Given the description of an element on the screen output the (x, y) to click on. 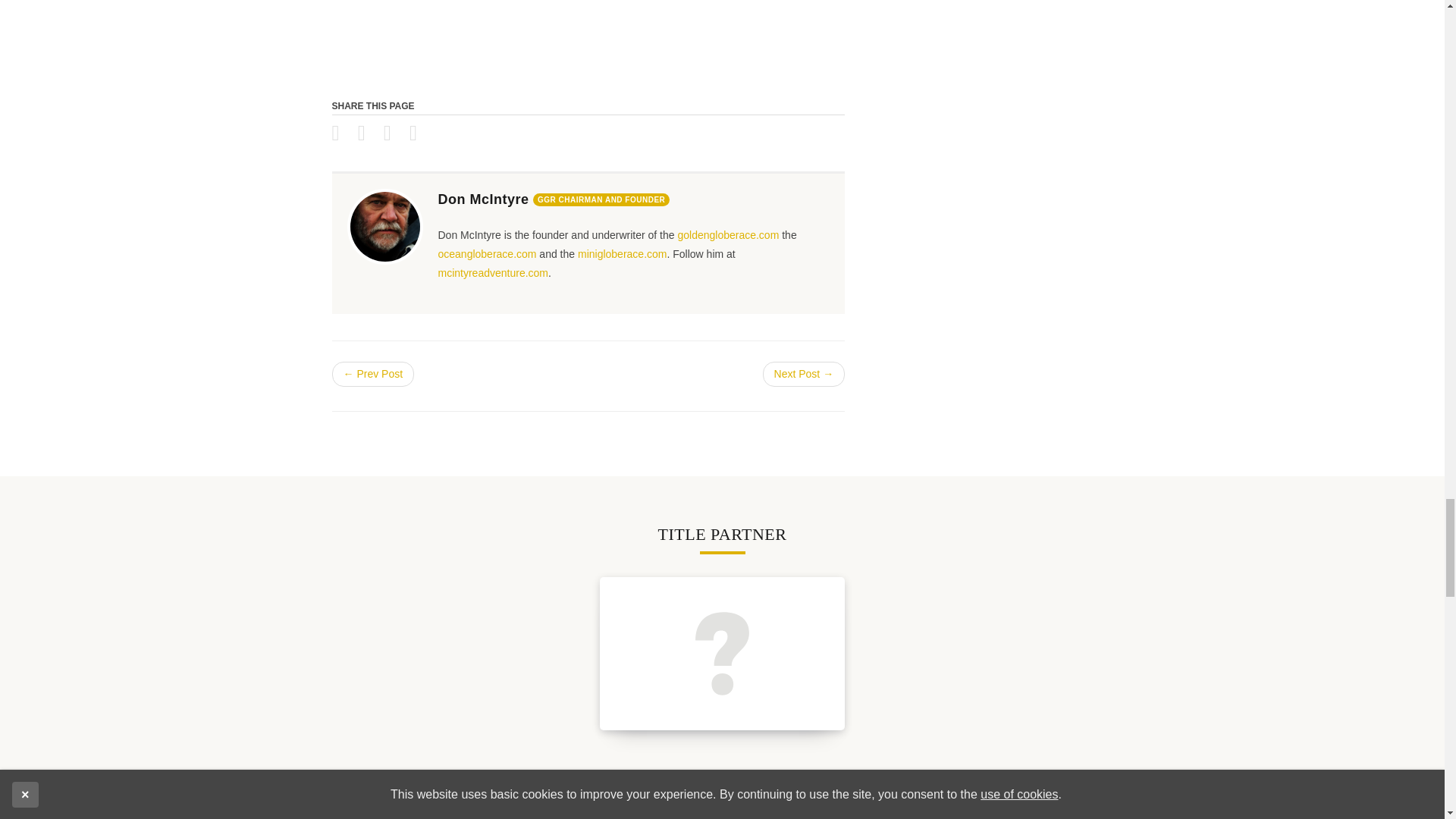
Share on Twitter (369, 136)
The Voyage of Madmen (588, 38)
Share on Facebook (343, 136)
Share on LinkedIn (395, 136)
Title Partner (721, 653)
Share on Reddit (420, 136)
